Given the description of an element on the screen output the (x, y) to click on. 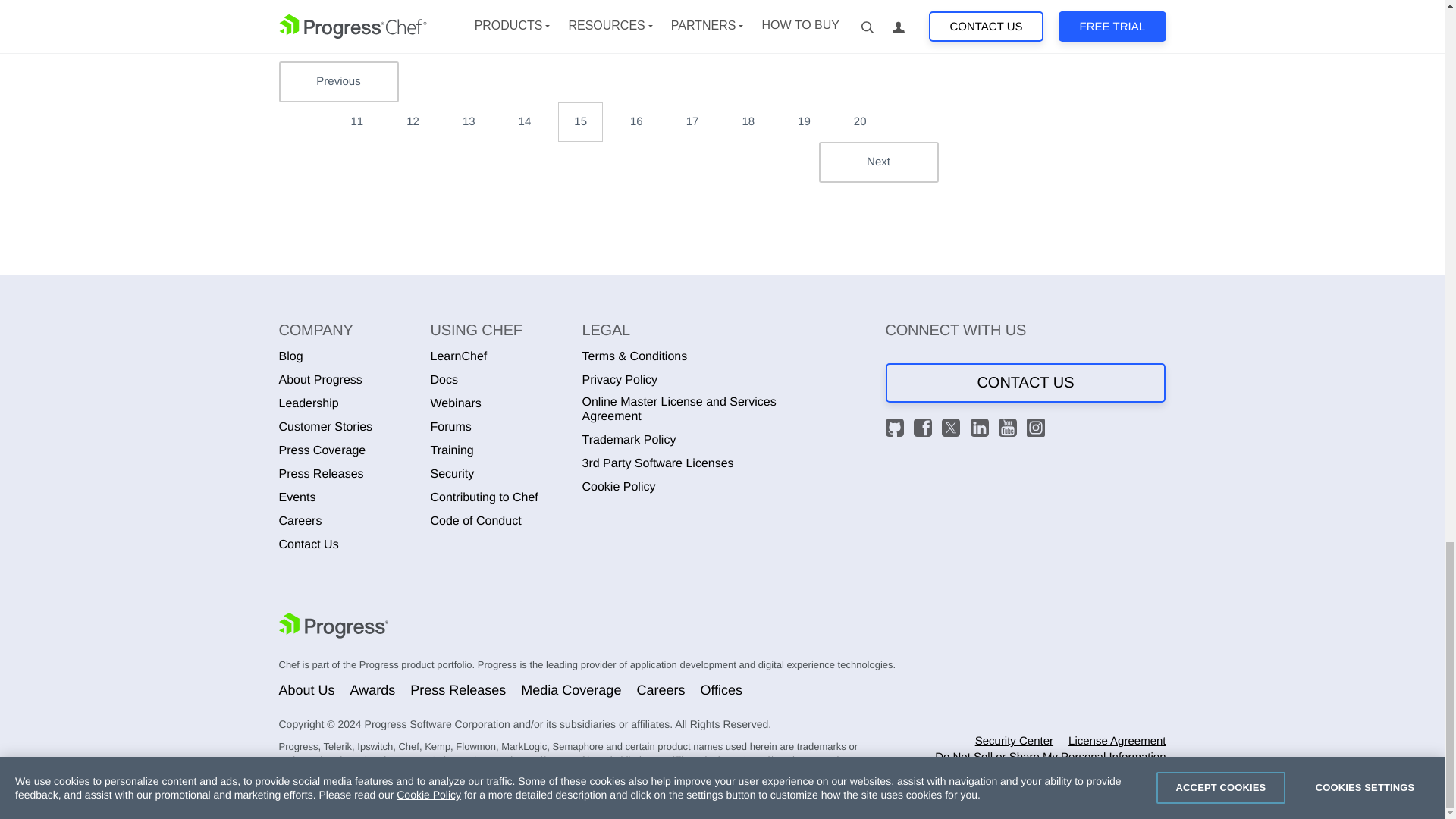
Progress-logo (333, 627)
